Given the description of an element on the screen output the (x, y) to click on. 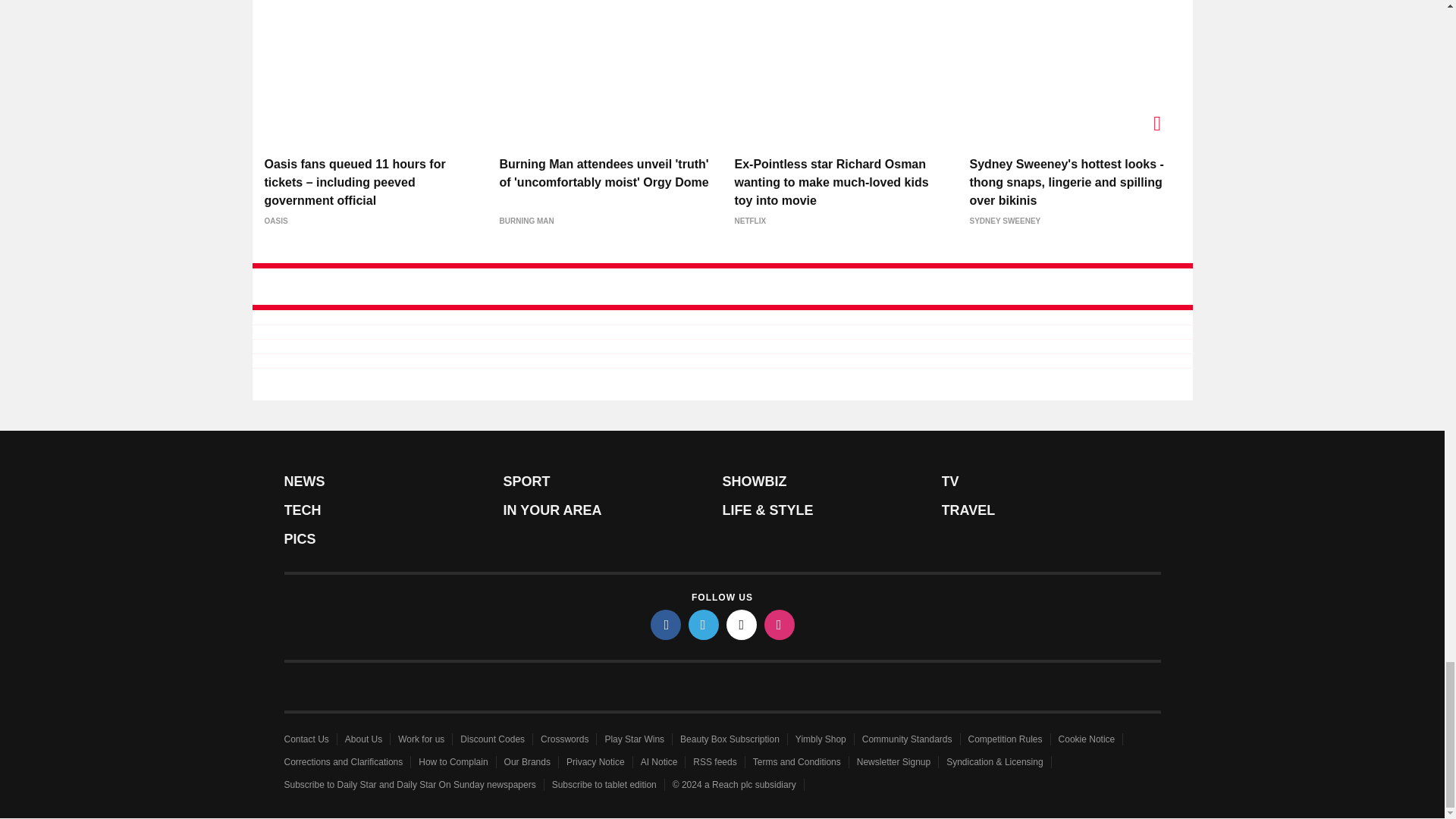
twitter (703, 624)
facebook (665, 624)
instagram (779, 624)
tiktok (741, 624)
